Given the description of an element on the screen output the (x, y) to click on. 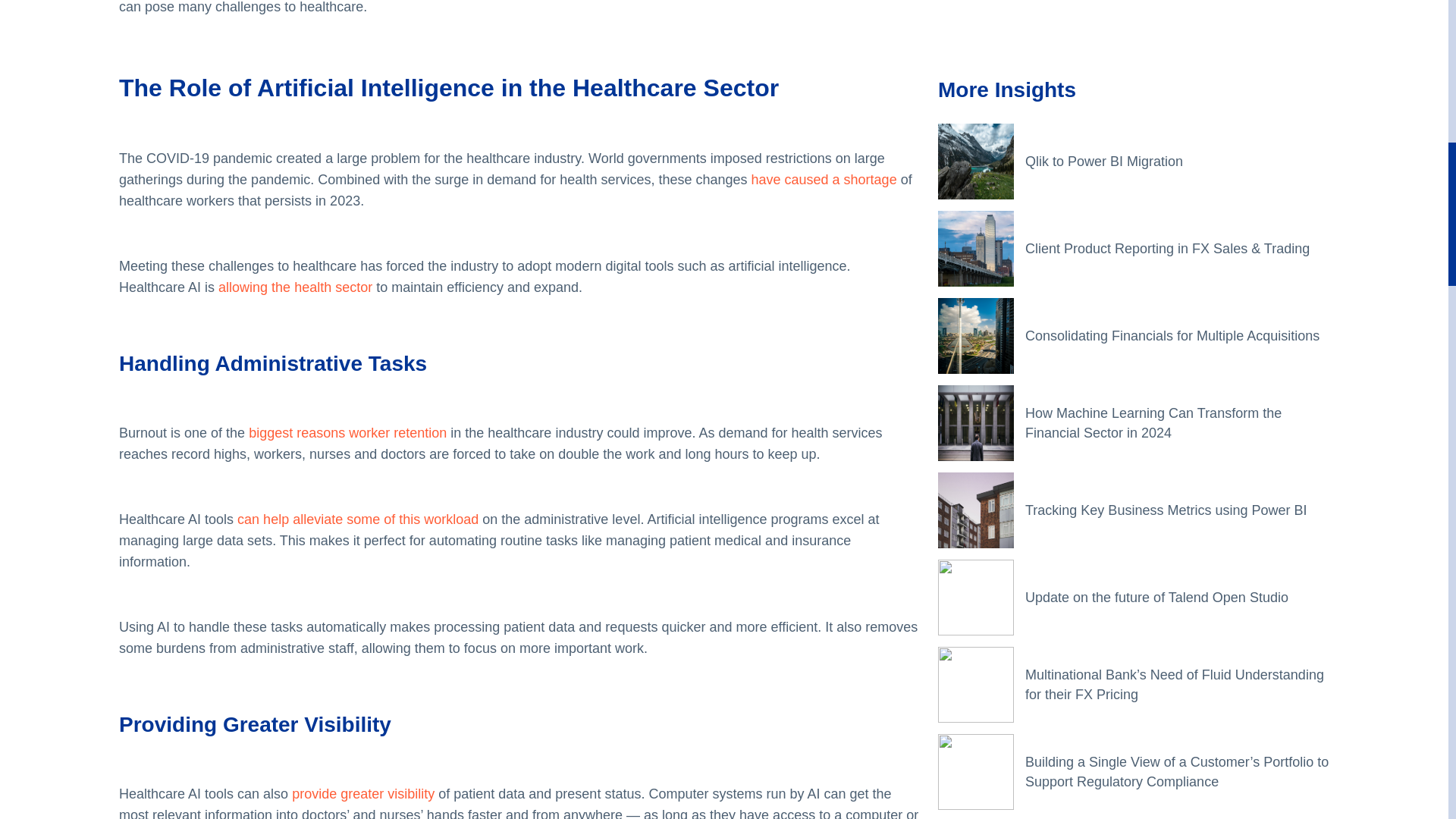
allowing the health sector (295, 287)
biggest reasons worker retention (345, 432)
can help alleviate some of this workload (358, 519)
Update on the future of Talend Open Studio (1177, 50)
have caused a shortage (823, 179)
provide greater visibility (362, 793)
